Given the description of an element on the screen output the (x, y) to click on. 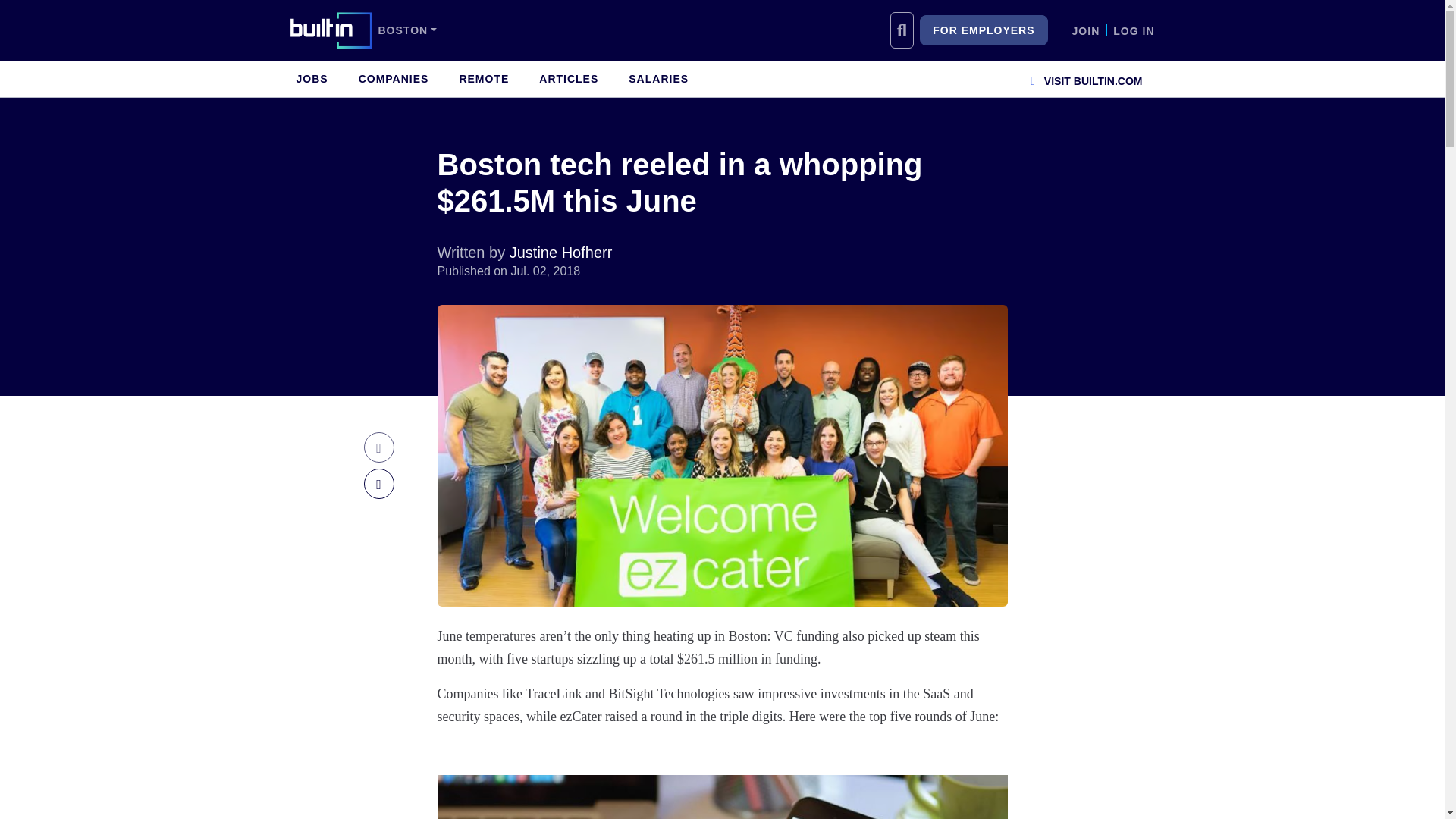
FOR EMPLOYERS (983, 30)
JOIN (1085, 30)
BOSTON (406, 30)
